Given the description of an element on the screen output the (x, y) to click on. 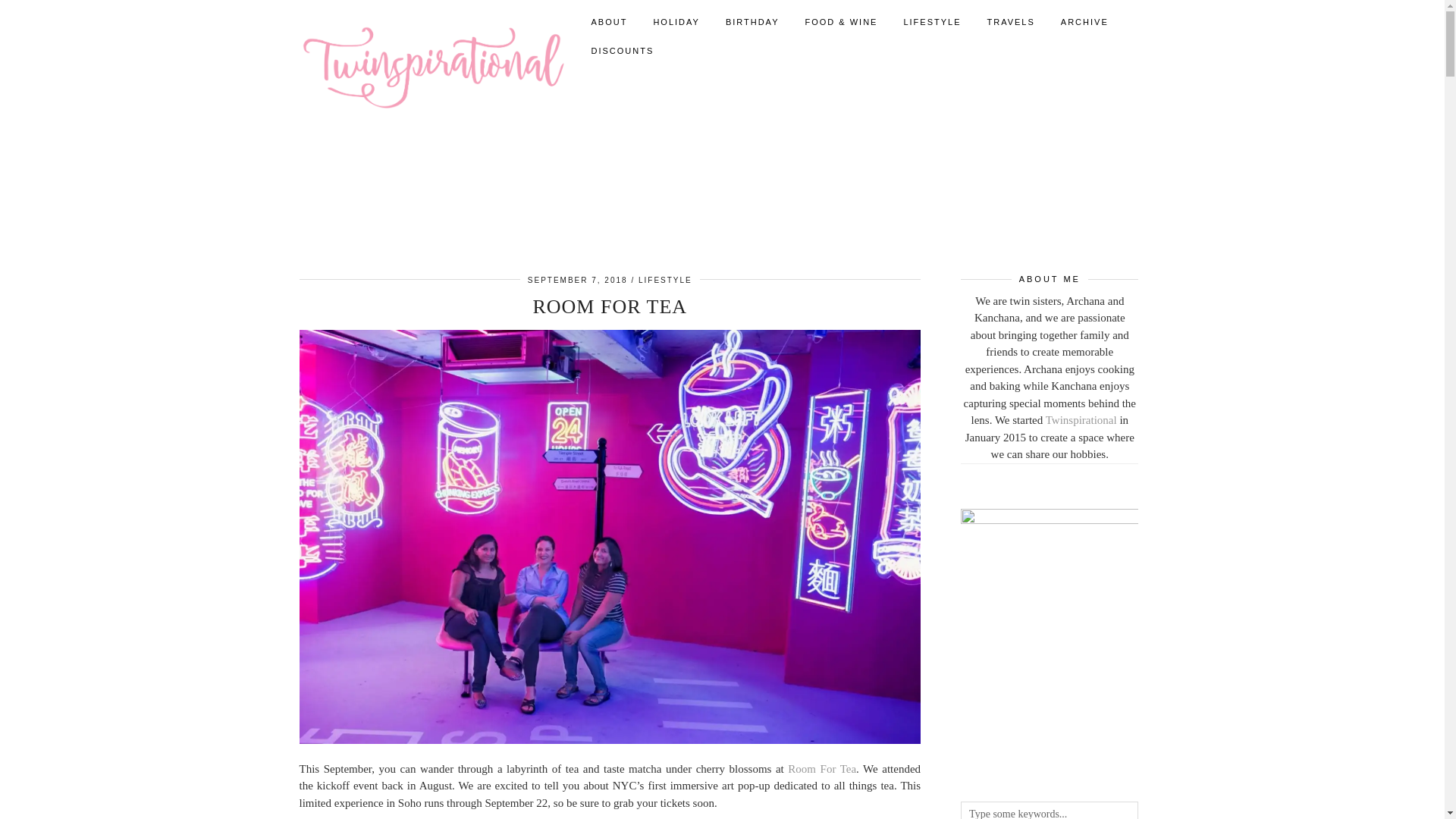
LIFESTYLE (931, 21)
HOLIDAY (675, 21)
Twinspirational (433, 66)
ABOUT (609, 21)
BIRTHDAY (752, 21)
